Given the description of an element on the screen output the (x, y) to click on. 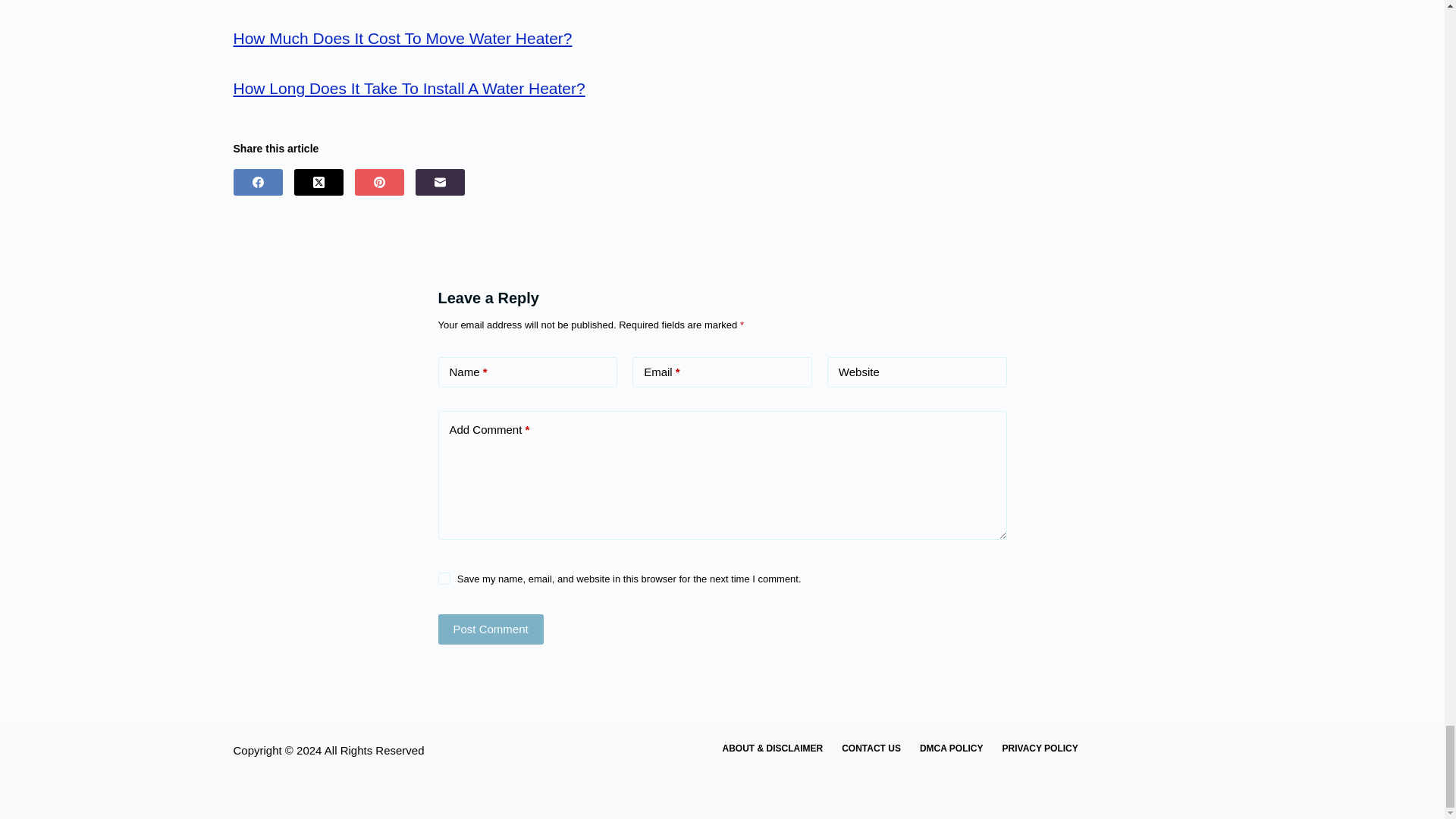
yes (443, 578)
